Given the description of an element on the screen output the (x, y) to click on. 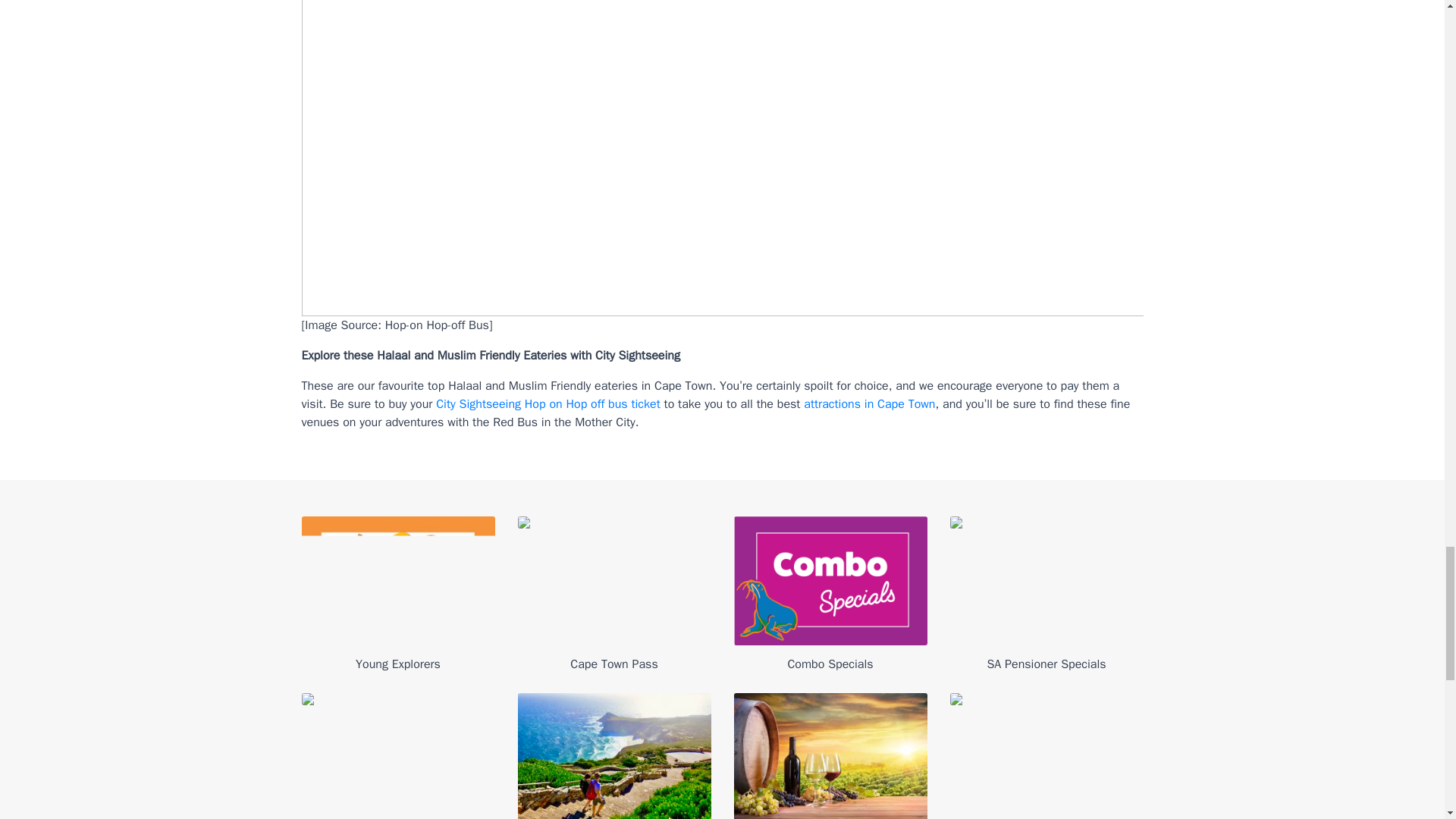
top Cape Town attractions (868, 403)
